Given the description of an element on the screen output the (x, y) to click on. 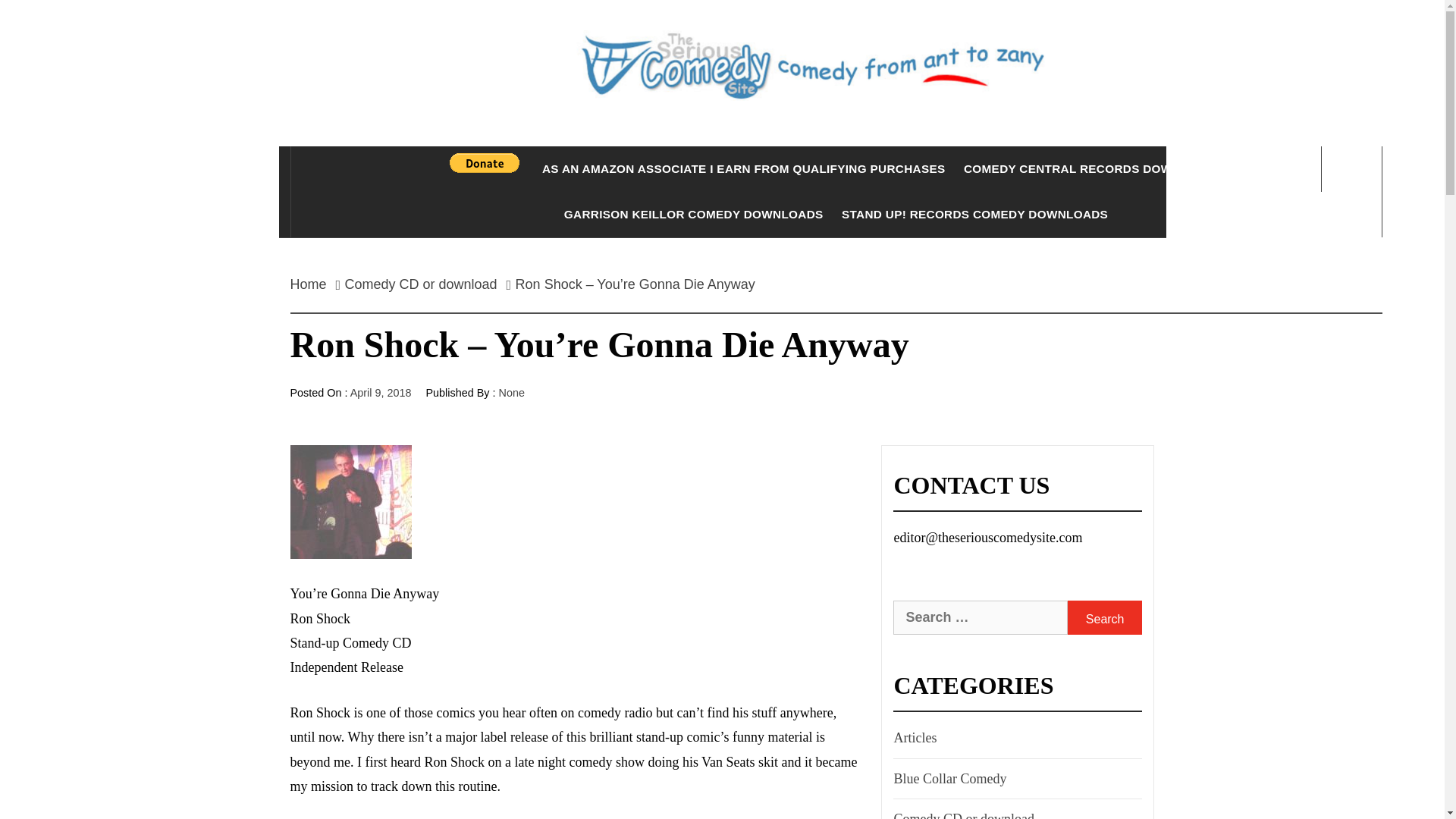
April 9, 2018 (381, 392)
COMEDY CENTRAL RECORDS DOWNLOADS (1093, 168)
Search (1104, 617)
Search (1104, 617)
None (511, 392)
Search (1104, 617)
AS AN AMAZON ASSOCIATE I EARN FROM QUALIFYING PURCHASES (743, 168)
STAND UP! RECORDS COMEDY DOWNLOADS (974, 214)
Comedy CD or download (961, 812)
Comedy CD or download (421, 283)
